Given the description of an element on the screen output the (x, y) to click on. 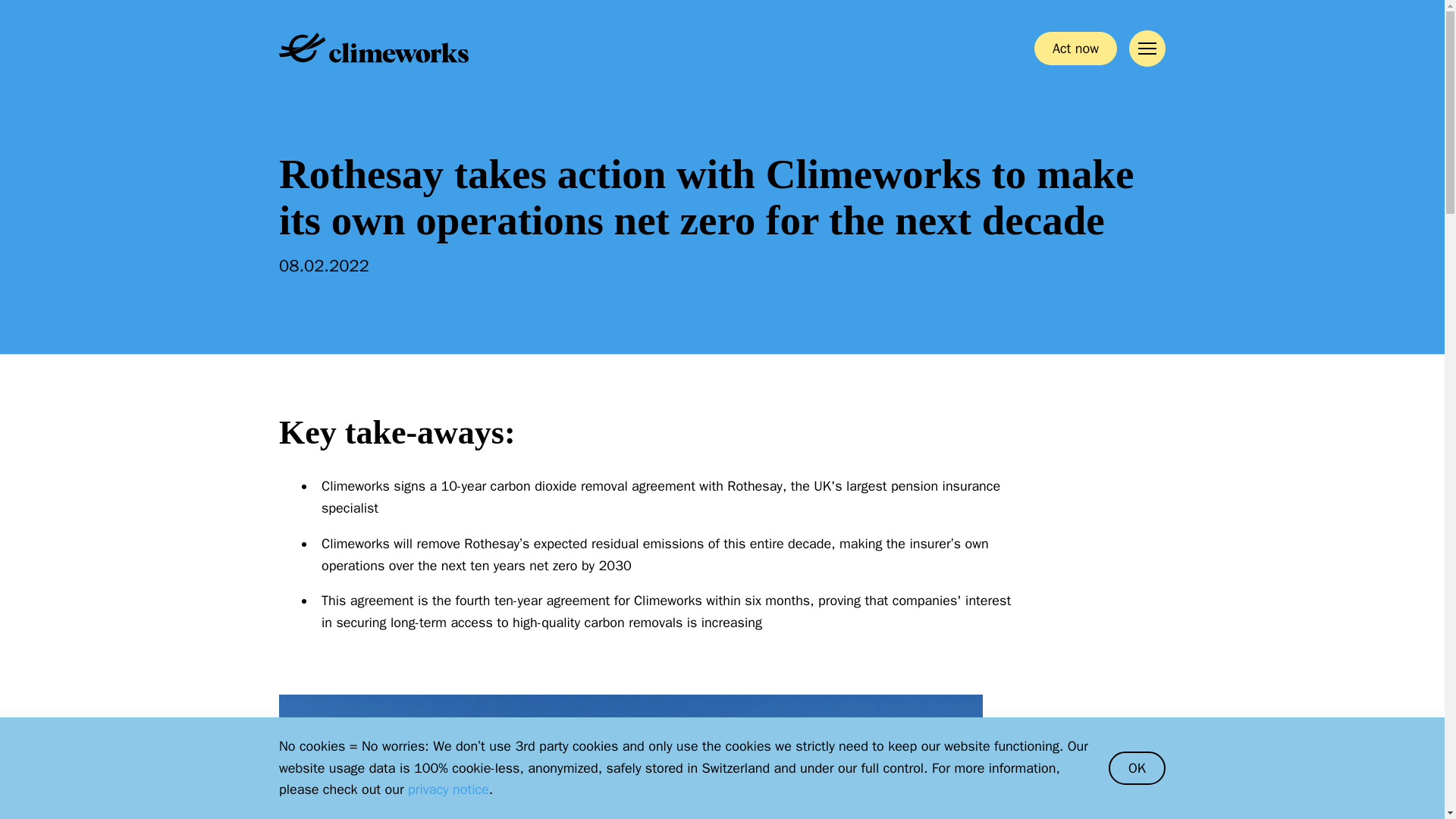
Act now (1074, 48)
